Given the description of an element on the screen output the (x, y) to click on. 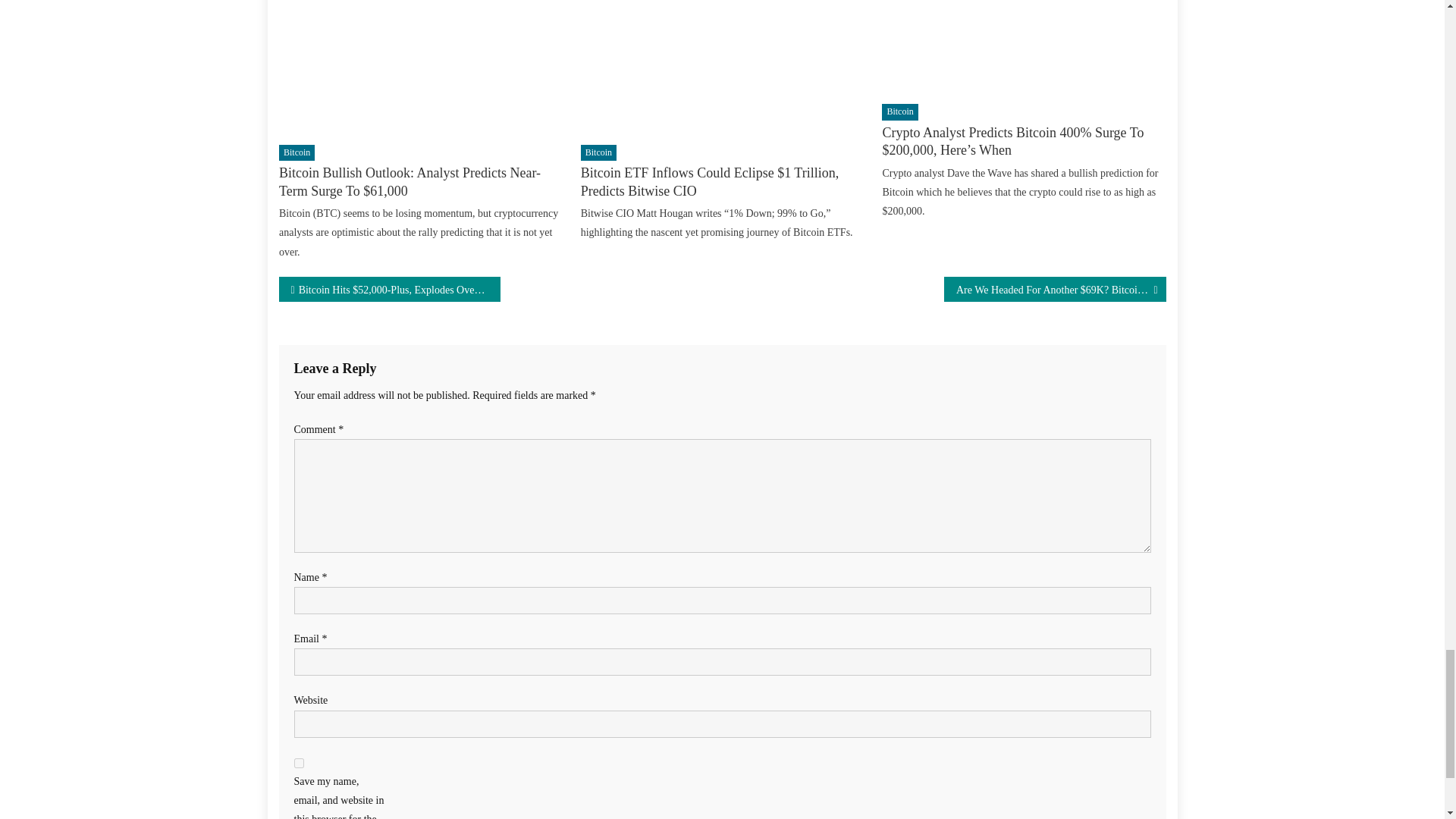
yes (299, 763)
Bitcoin (296, 152)
Bitcoin (597, 152)
Bitcoin (899, 112)
